Given the description of an element on the screen output the (x, y) to click on. 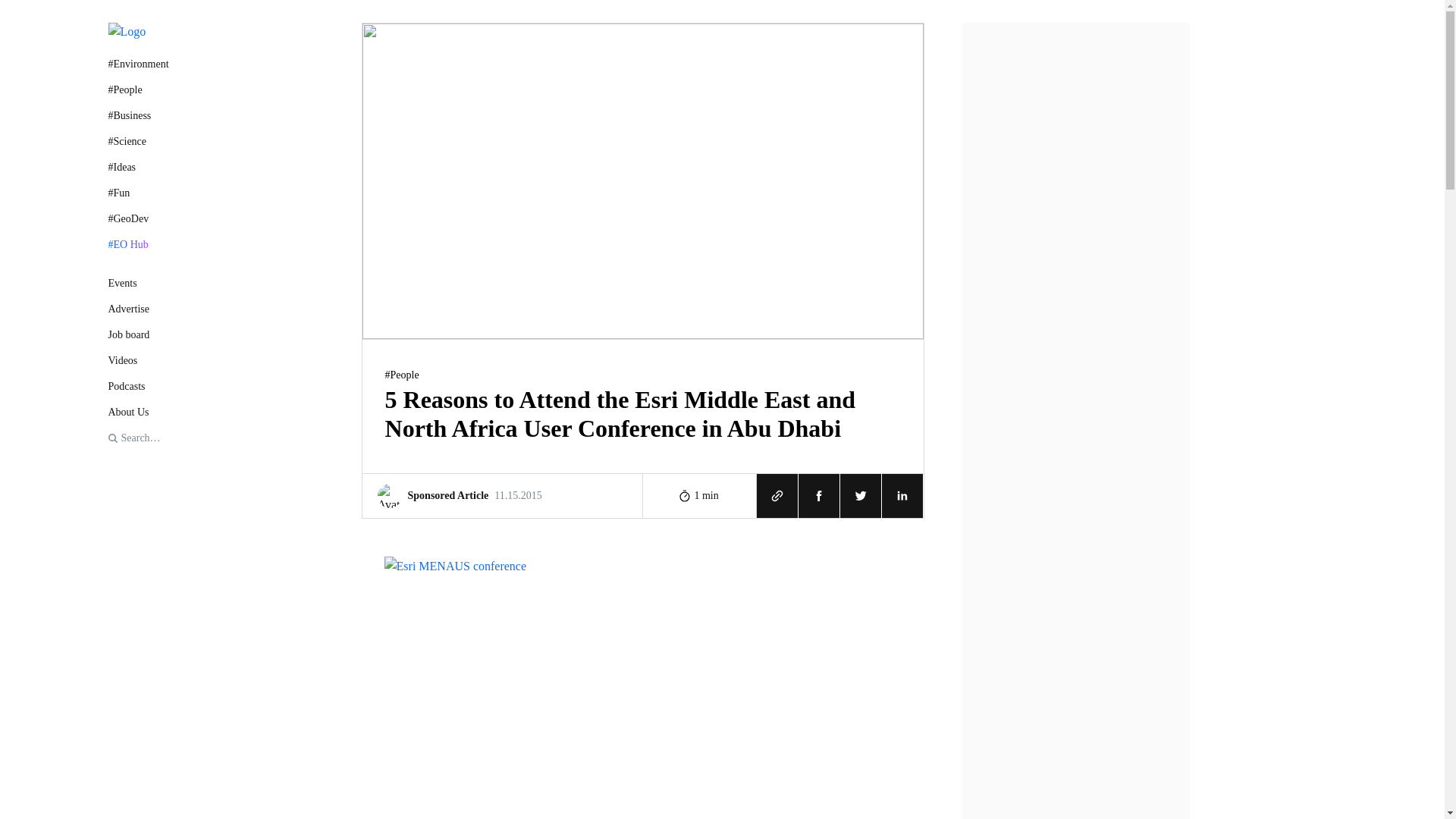
Job board (137, 334)
Events (137, 283)
Podcasts (137, 385)
About Us (137, 412)
Advertise (137, 308)
1 min (700, 494)
Videos (137, 360)
